Given the description of an element on the screen output the (x, y) to click on. 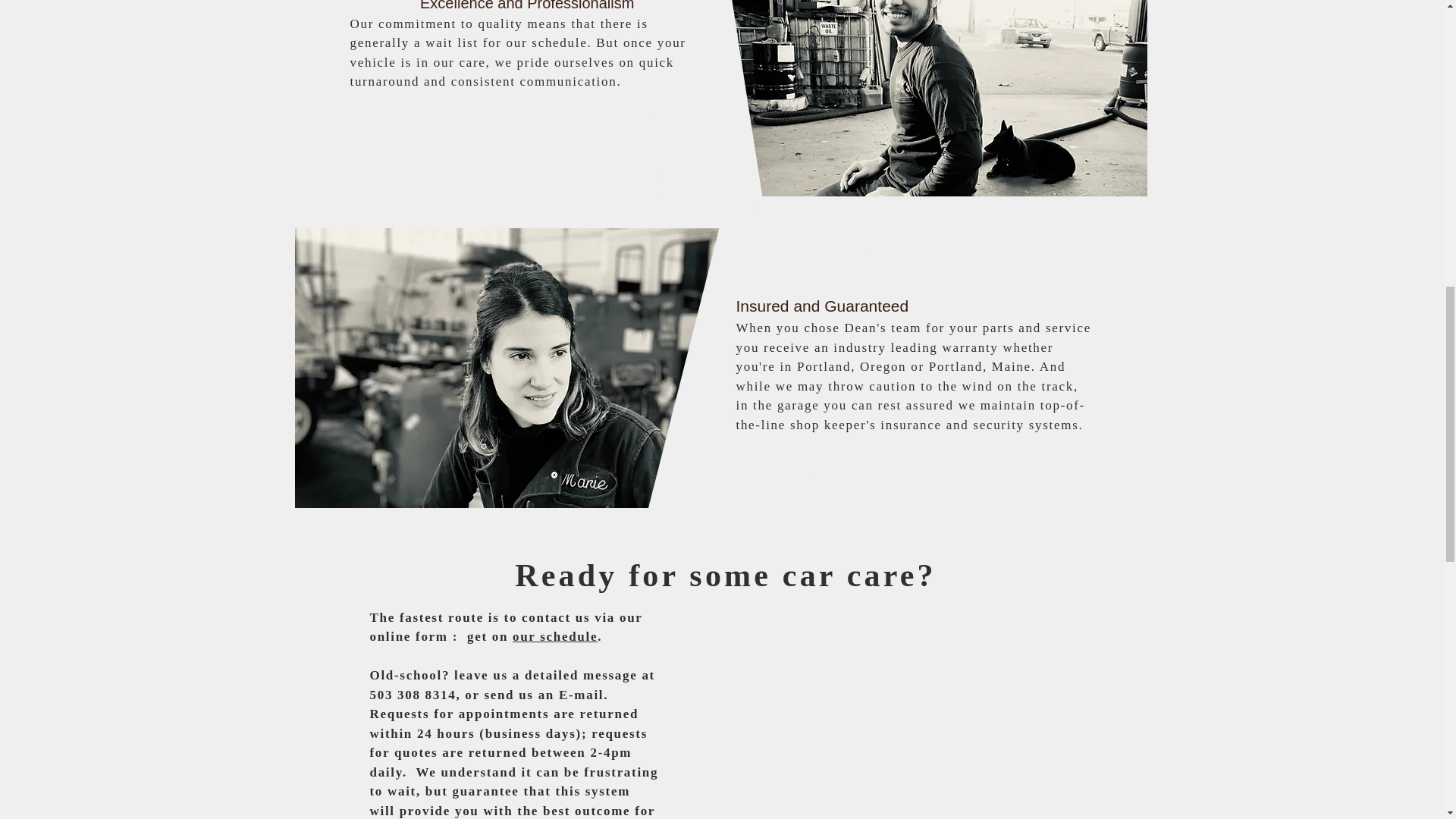
our schedule (554, 636)
